Given the description of an element on the screen output the (x, y) to click on. 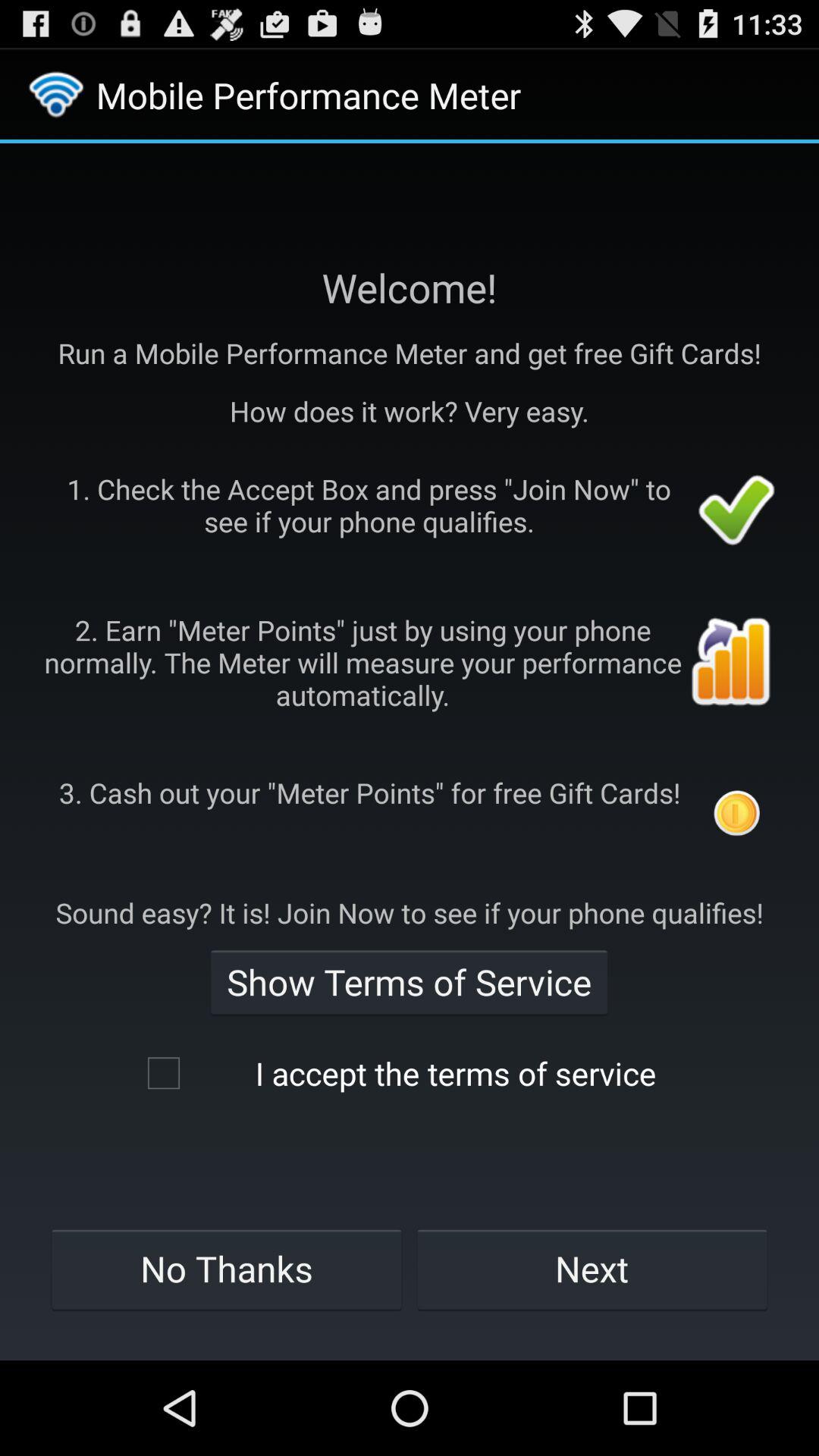
tap icon at the bottom left corner (226, 1268)
